Given the description of an element on the screen output the (x, y) to click on. 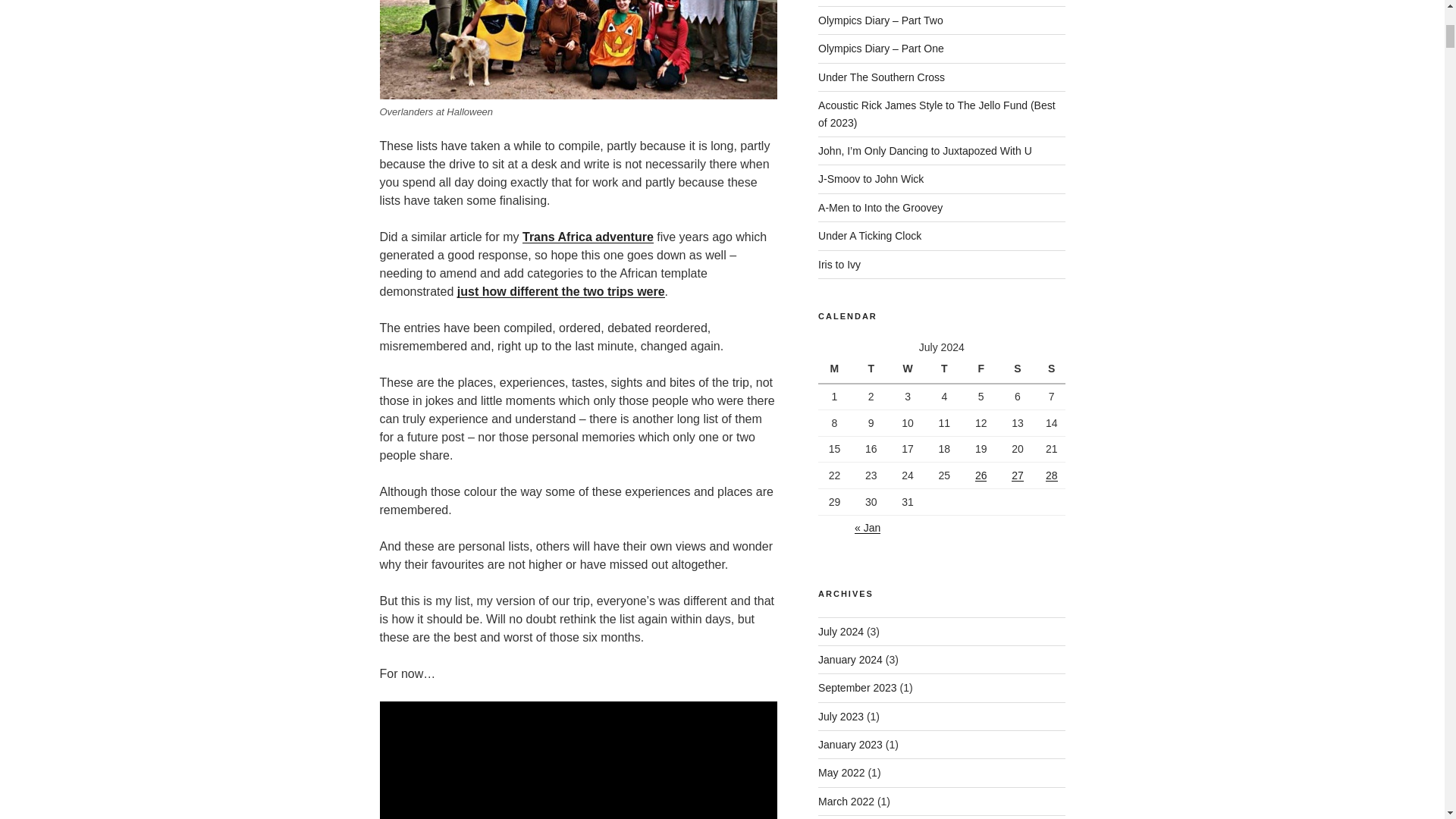
Trans Africa adventure (587, 236)
just how different the two trips were (561, 291)
First Among Equals (561, 291)
